Given the description of an element on the screen output the (x, y) to click on. 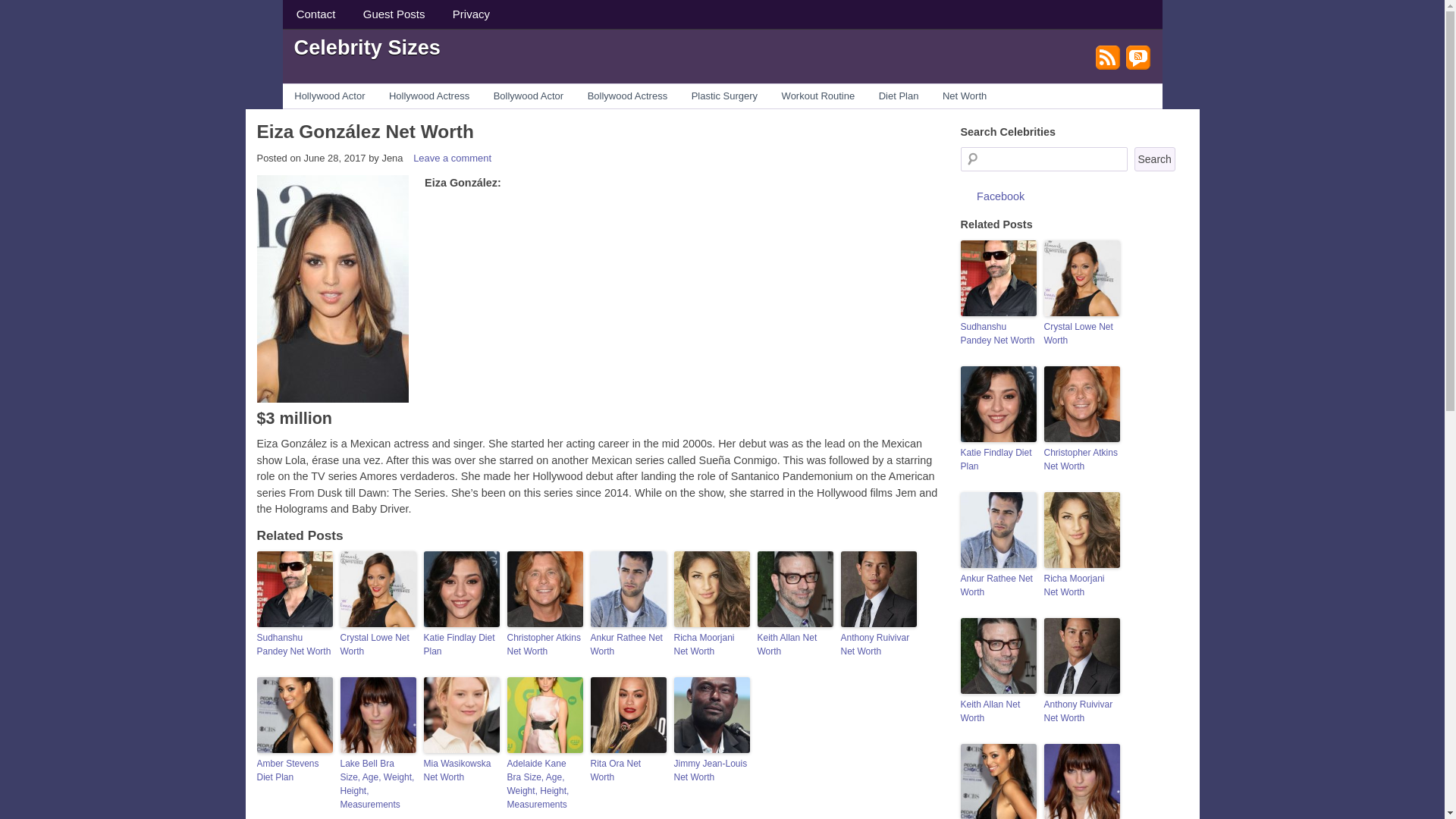
Privacy (471, 14)
Celebrity Sizes (367, 46)
Ankur Rathee Net Worth (627, 644)
Leave a comment (452, 157)
Bollywood Actor (528, 96)
10:13 pm (333, 157)
Keith Allan Net Worth (794, 644)
Katie Findlay Diet Plan (461, 644)
Christopher Atkins Net Worth (544, 644)
Richa Moorjani Net Worth (710, 644)
Search (1154, 159)
Lake Bell Bra Size, Age, Weight, Height, Measurements (376, 783)
View all posts by Jena (392, 157)
Crystal Lowe Net Worth (376, 644)
Amber Stevens Diet Plan (293, 769)
